Given the description of an element on the screen output the (x, y) to click on. 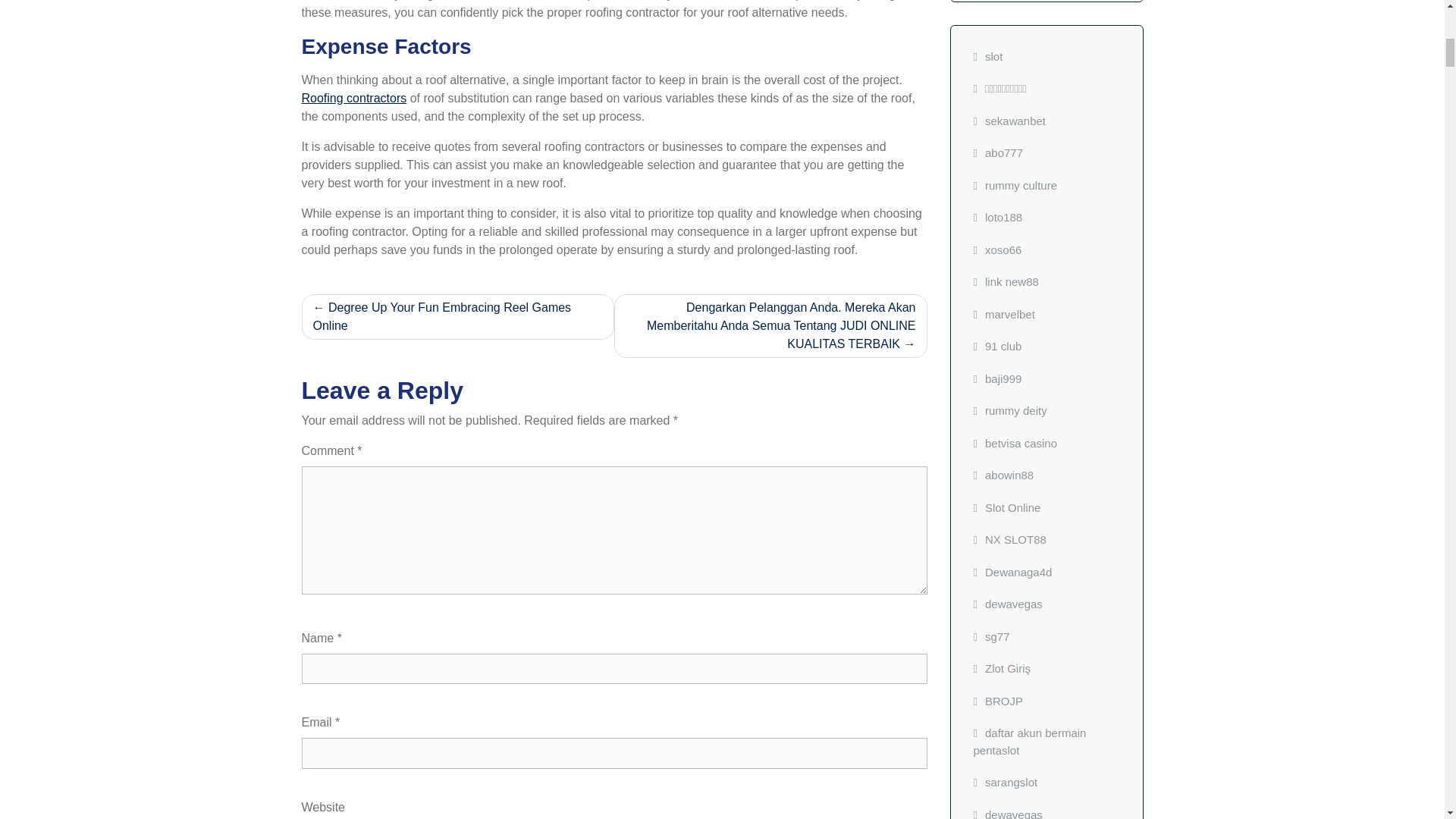
Dewanaga4d (1013, 571)
Slot Online (1007, 507)
loto188 (998, 216)
abo777 (998, 152)
marvelbet (1004, 314)
abowin88 (1003, 474)
baji999 (998, 378)
sg77 (992, 635)
betvisa casino (1016, 442)
Degree Up Your Fun Embracing Reel Games Online (457, 316)
slot (988, 56)
link new88 (1006, 281)
Roofing contractors (354, 97)
rummy culture (1016, 185)
